Given the description of an element on the screen output the (x, y) to click on. 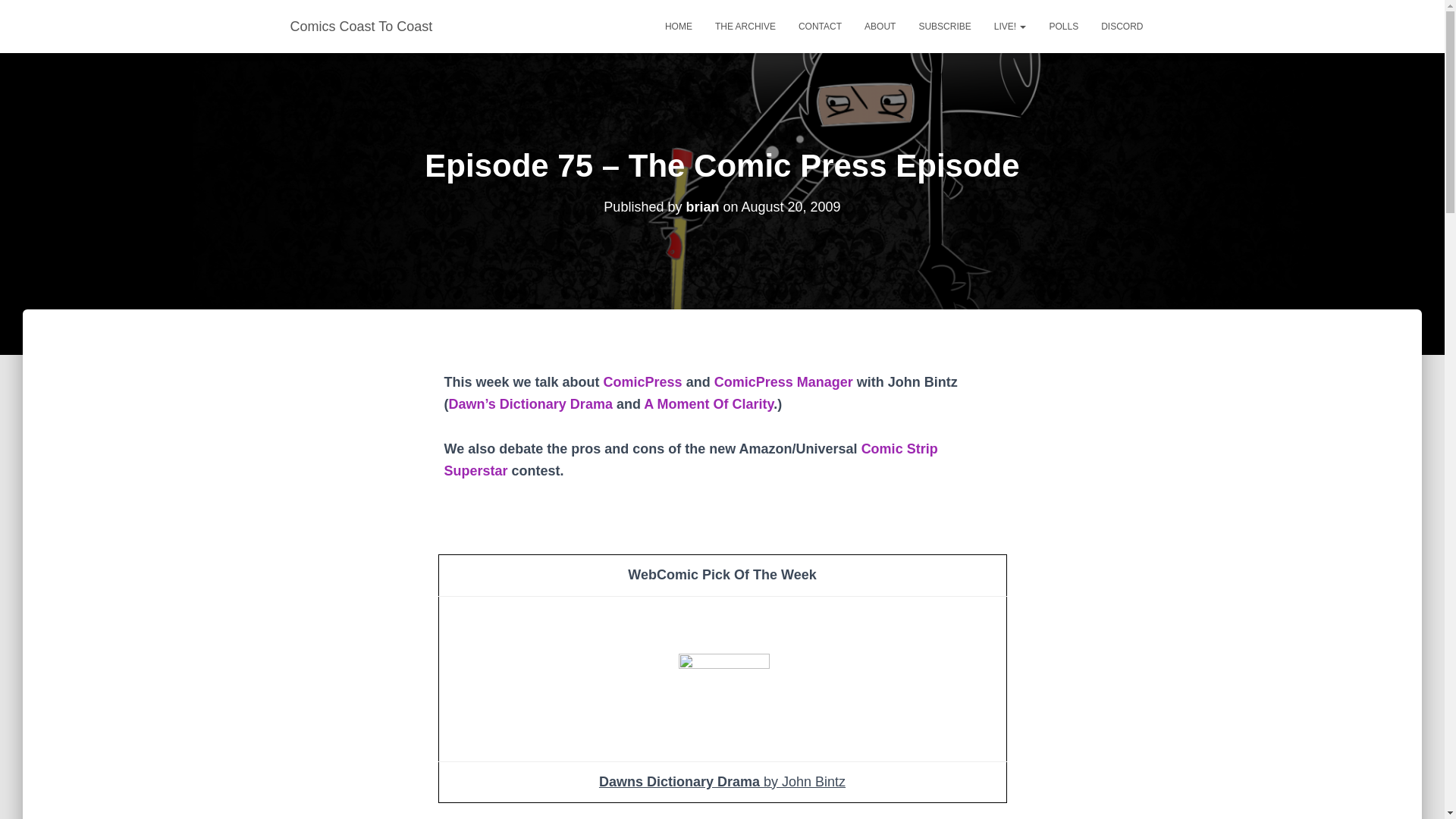
Home (678, 26)
DISCORD (1121, 26)
Comics Coast To Coast (361, 26)
About (880, 26)
Comic Strip Superstar (690, 459)
Live! (1010, 26)
The Archive (745, 26)
ComicPress Manager (783, 381)
CONTACT (820, 26)
POLLS (1062, 26)
ABOUT (880, 26)
HOME (678, 26)
SUBSCRIBE (944, 26)
Subscribe (944, 26)
Comics Coast To Coast (361, 26)
